Given the description of an element on the screen output the (x, y) to click on. 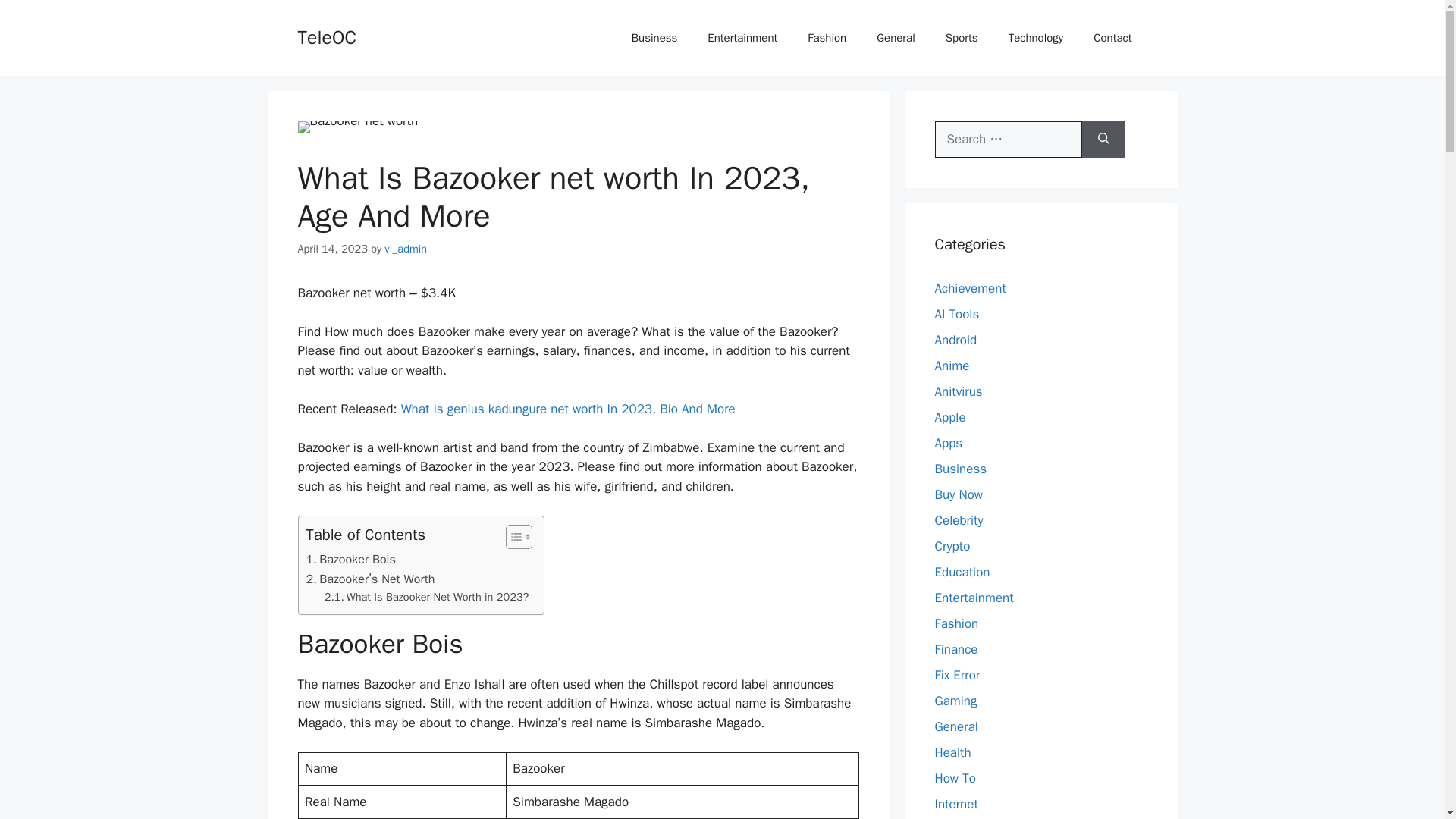
Entertainment (742, 37)
Bazooker Bois (350, 559)
Education (962, 571)
Anitvirus (957, 391)
Contact (1112, 37)
Fashion (956, 623)
What Is genius kadungure net worth In 2023, Bio And More (568, 408)
What Is Bazooker Net Worth in 2023? (426, 597)
Apple (949, 417)
Business (960, 468)
General (955, 726)
Entertainment (973, 597)
Internet (955, 804)
Search for: (1007, 139)
Achievement (970, 288)
